Given the description of an element on the screen output the (x, y) to click on. 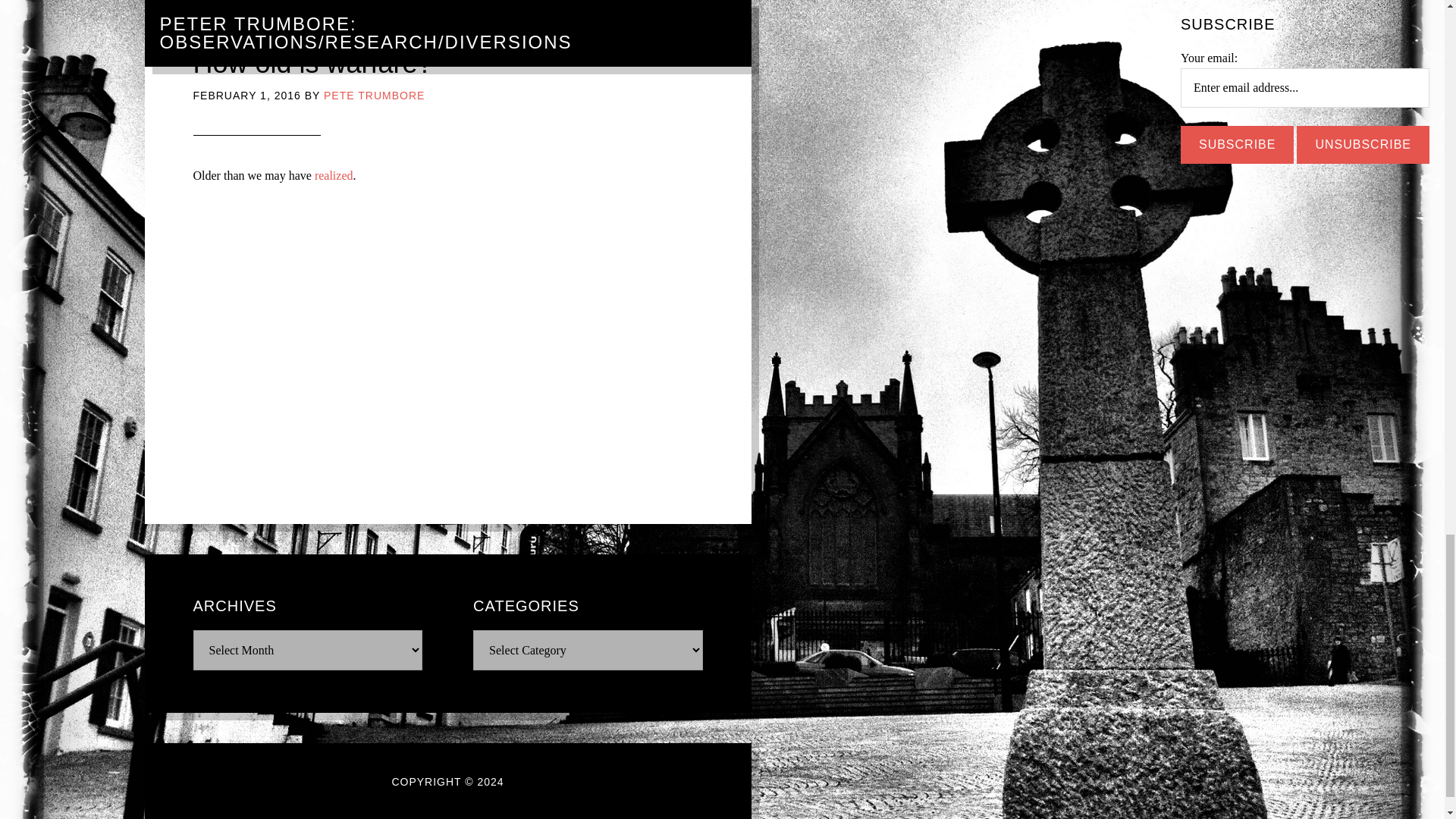
realized (333, 174)
How old is warfare? (312, 62)
PETE TRUMBORE (374, 95)
